Given the description of an element on the screen output the (x, y) to click on. 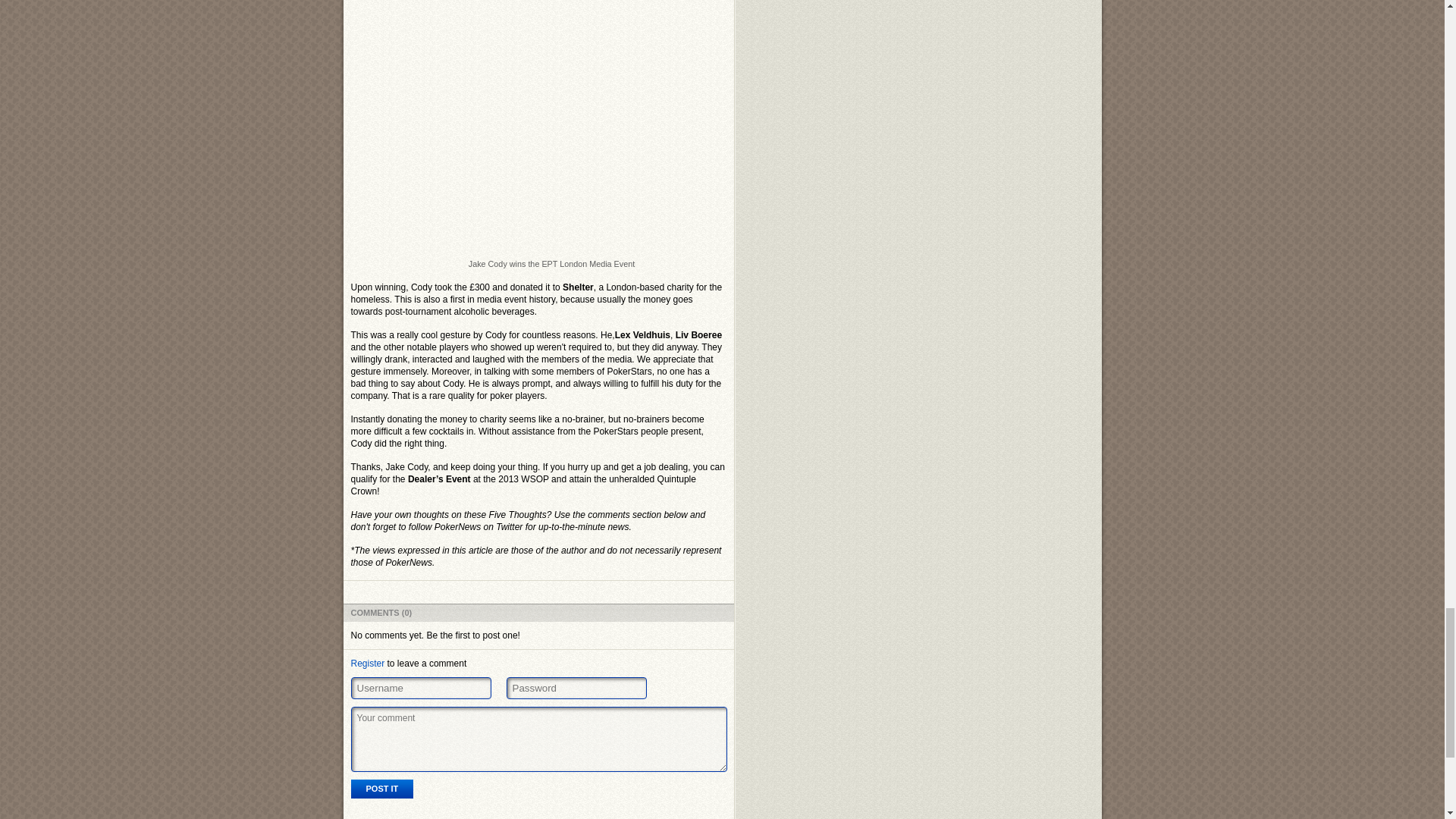
Post it (381, 788)
